Given the description of an element on the screen output the (x, y) to click on. 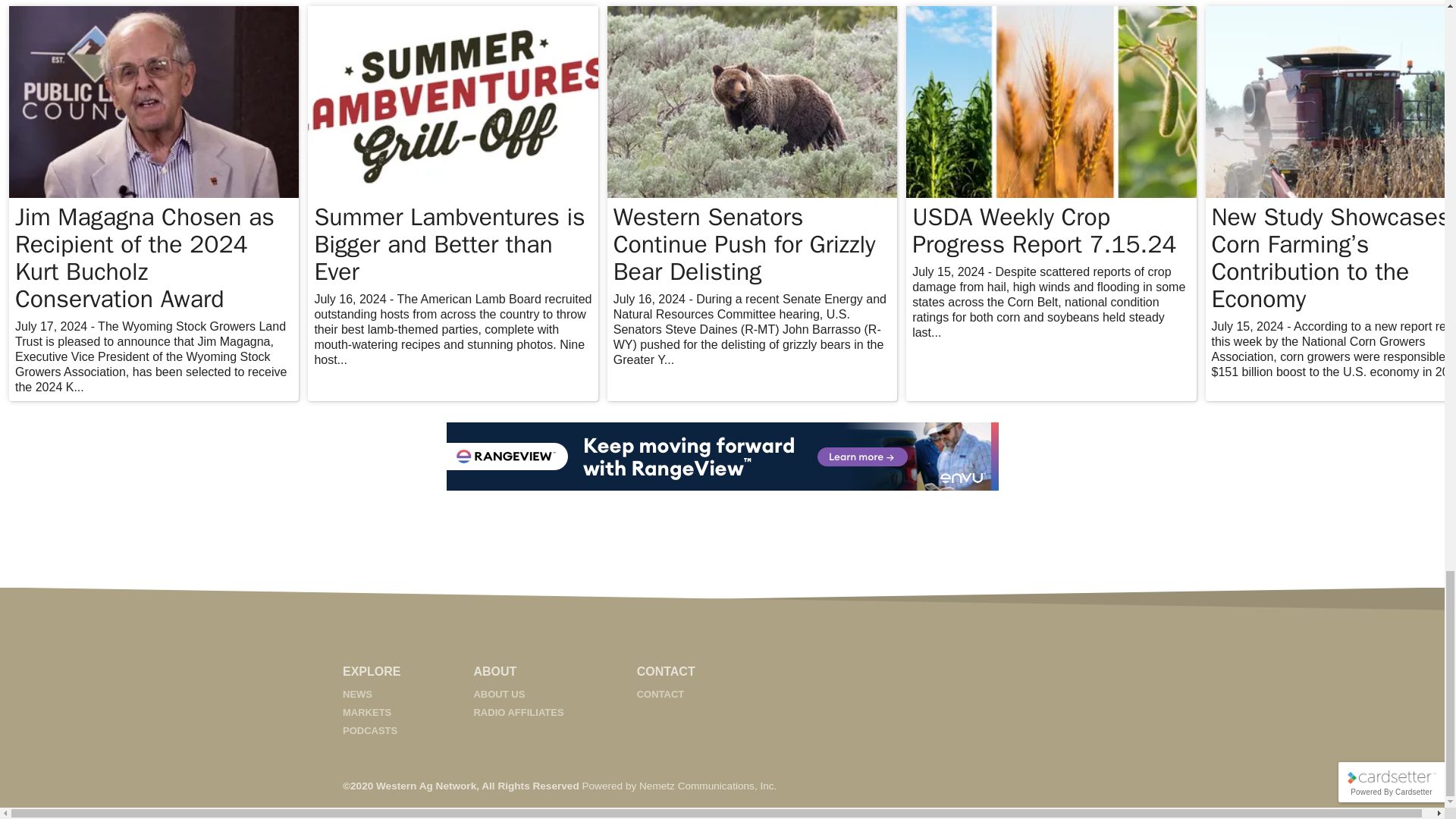
MARKETS (366, 712)
CONTACT (660, 694)
PODCASTS (369, 730)
NEWS (357, 694)
ABOUT US (498, 694)
RADIO AFFILIATES (518, 712)
